Given the description of an element on the screen output the (x, y) to click on. 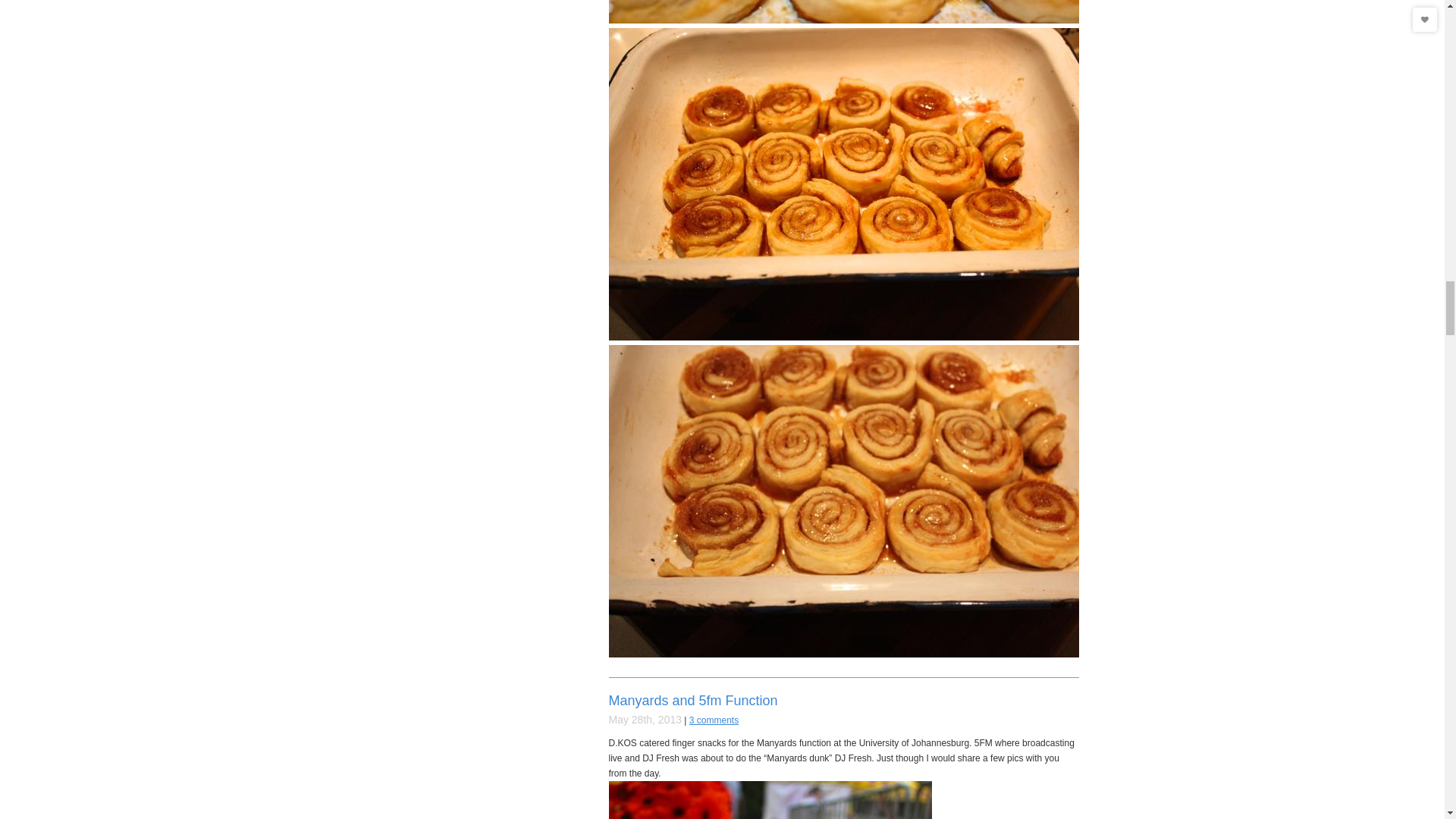
Permalink to Manyards and 5fm Function (692, 700)
3 comments (713, 719)
Manyards and 5fm Function (692, 700)
